Given the description of an element on the screen output the (x, y) to click on. 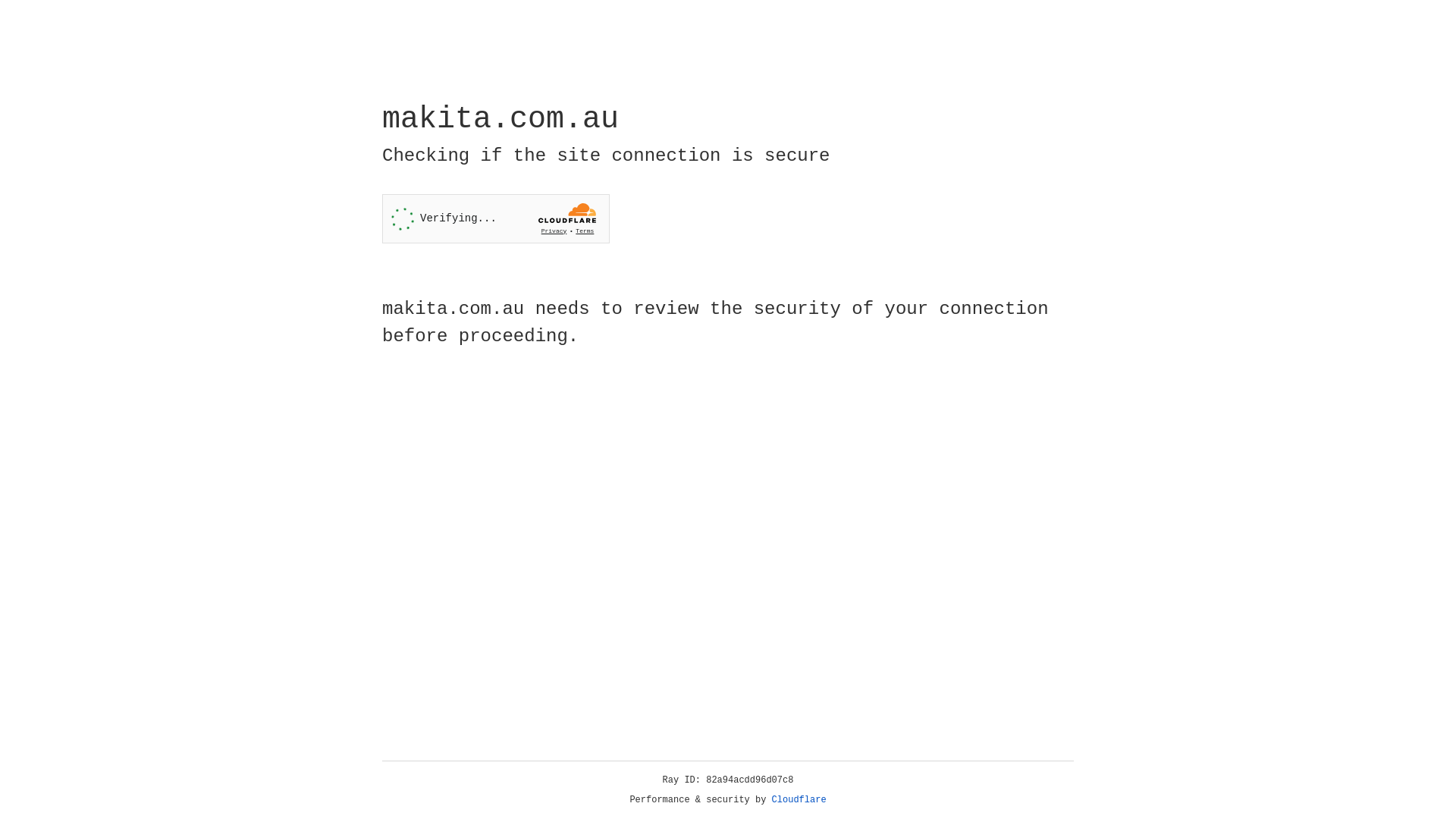
Widget containing a Cloudflare security challenge Element type: hover (495, 218)
Cloudflare Element type: text (798, 799)
